Given the description of an element on the screen output the (x, y) to click on. 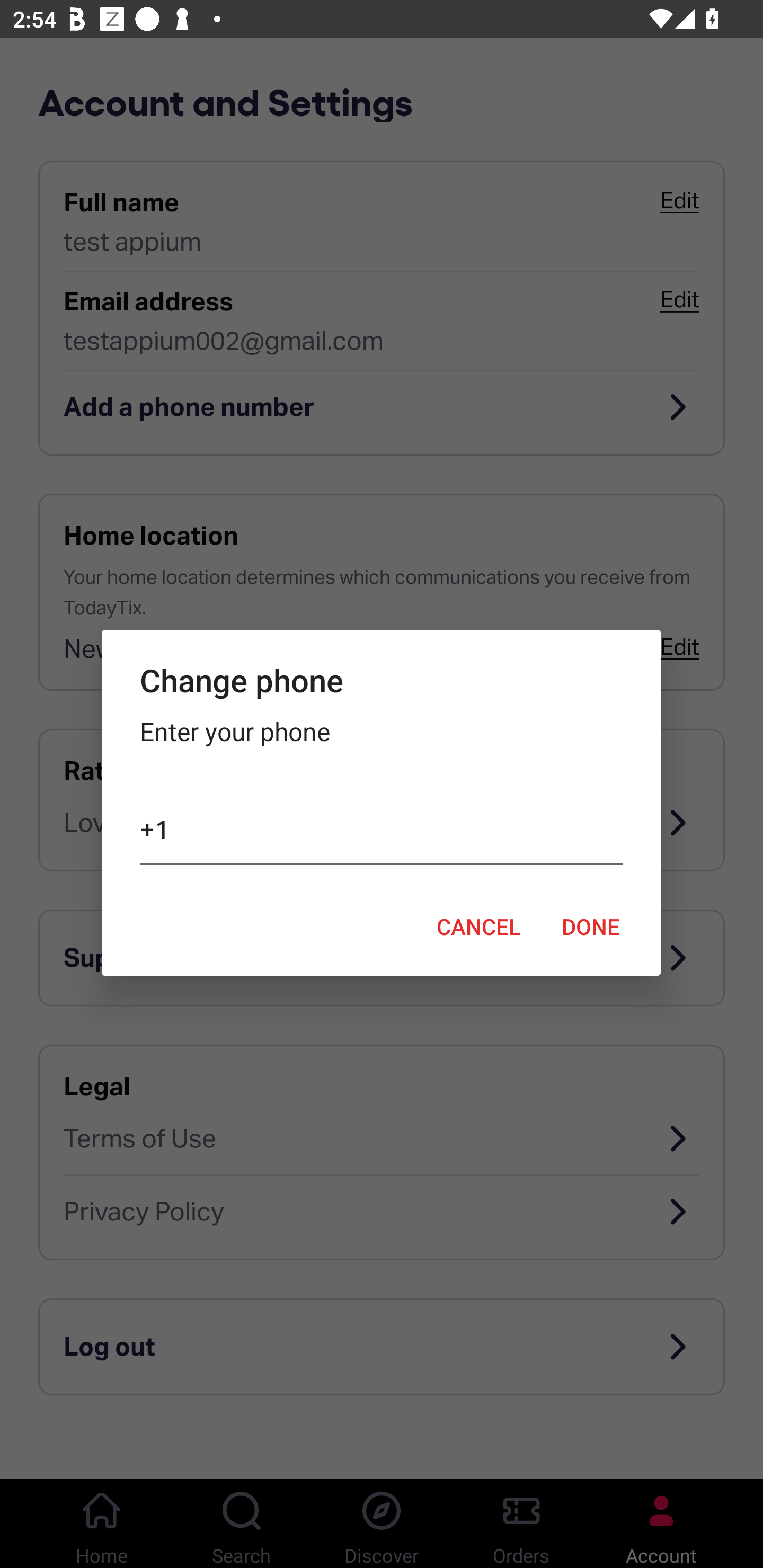
+1 (380, 833)
CANCEL (478, 926)
DONE (590, 926)
